Given the description of an element on the screen output the (x, y) to click on. 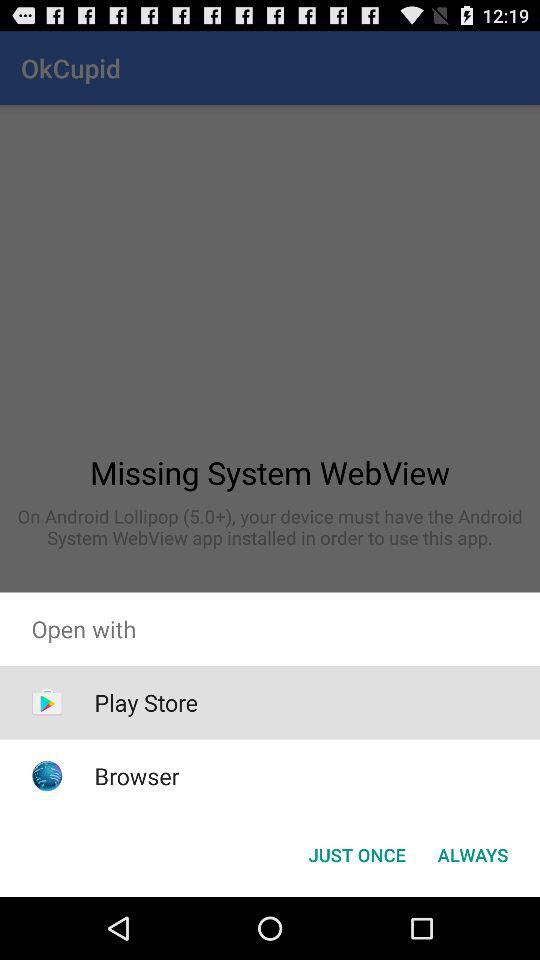
select item to the right of just once icon (472, 854)
